Given the description of an element on the screen output the (x, y) to click on. 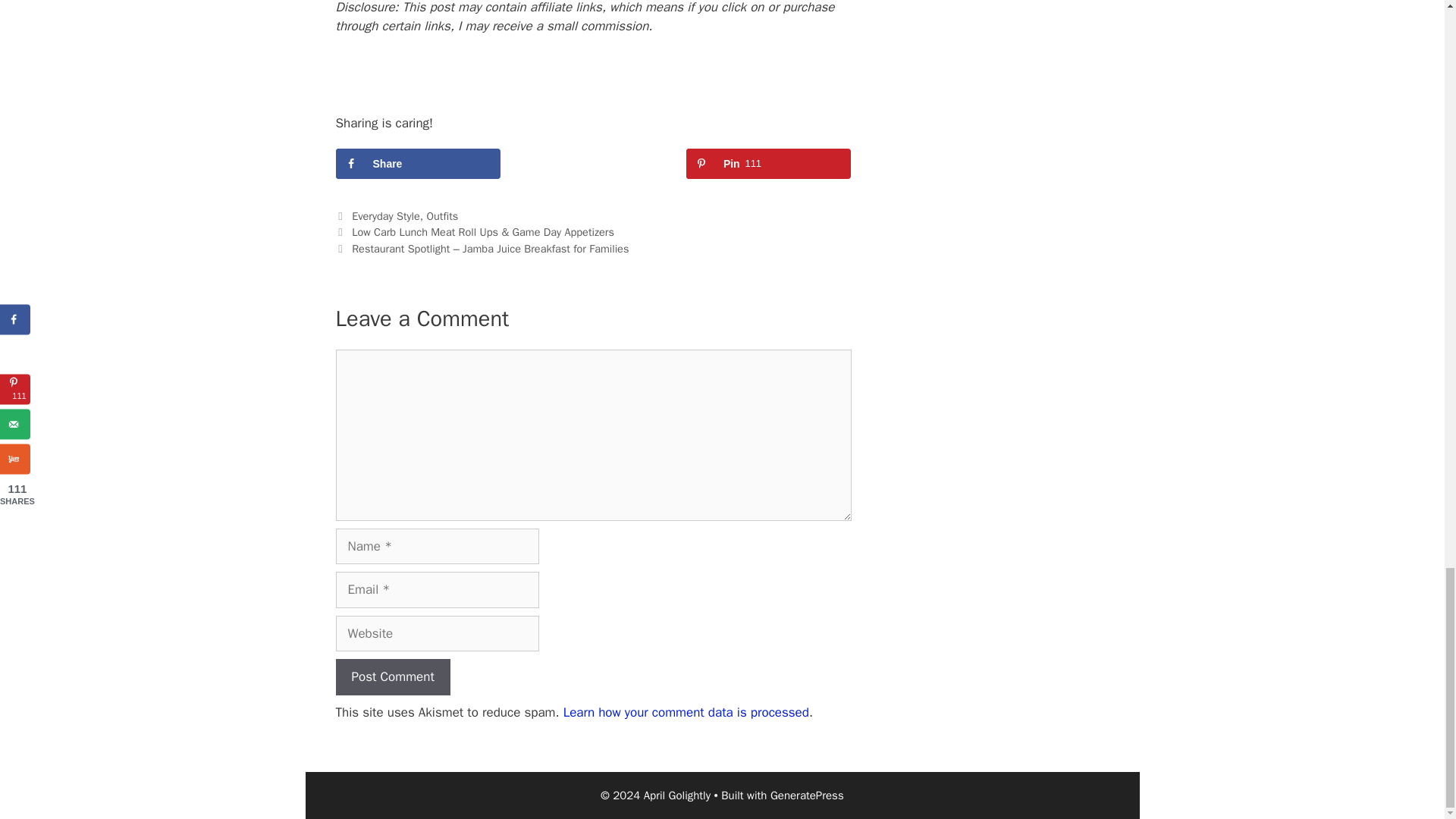
Save to Pinterest (768, 163)
Share on Facebook (417, 163)
Share on X (594, 163)
Post Comment (391, 677)
